Given the description of an element on the screen output the (x, y) to click on. 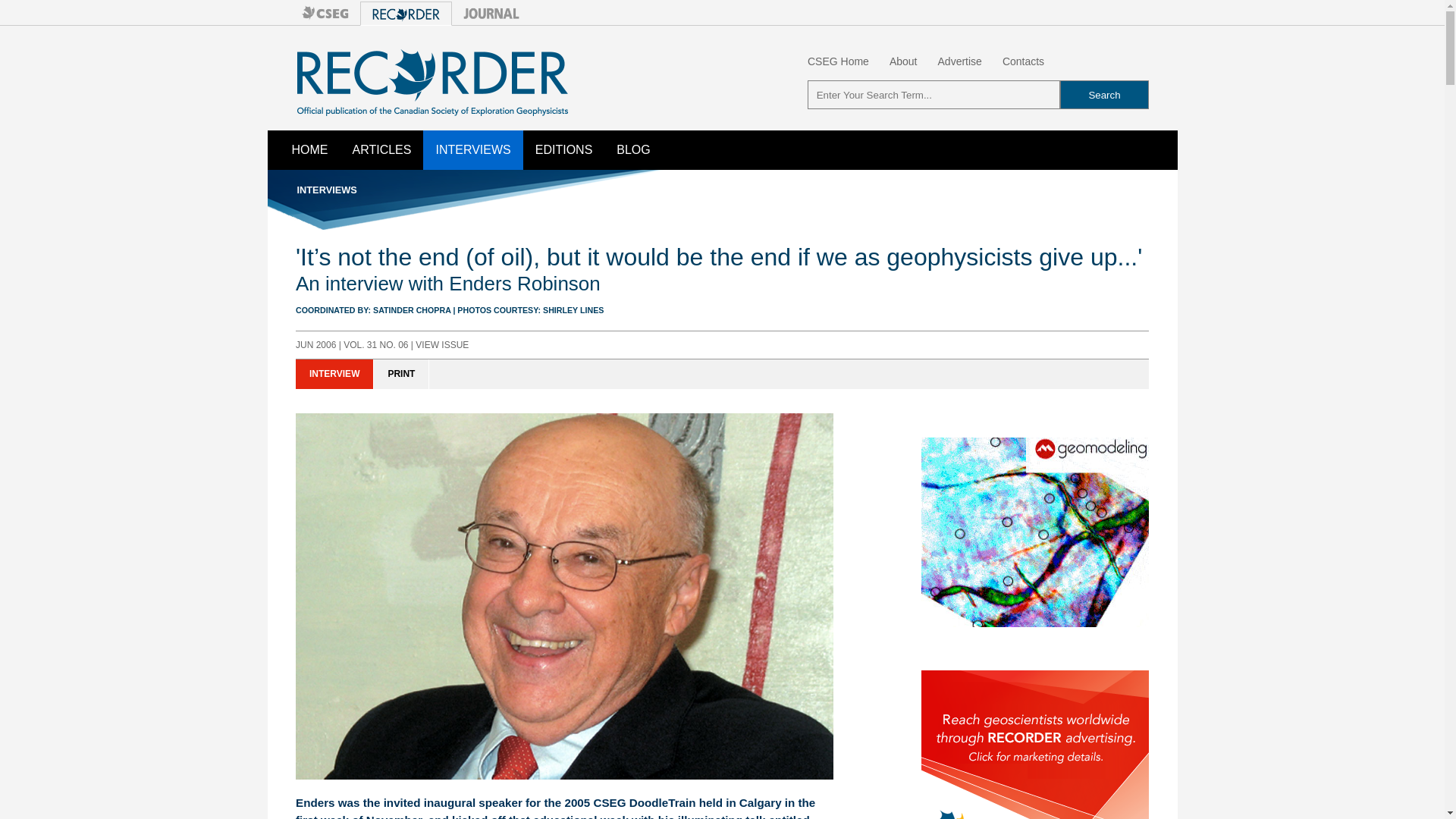
Search (1103, 94)
Contacts (1023, 61)
ARTICLES (381, 149)
PRINT (401, 374)
BLOG (633, 149)
EDITIONS (563, 149)
INTERVIEW (334, 374)
About (903, 61)
Search (1103, 94)
Advertise (959, 61)
